Given the description of an element on the screen output the (x, y) to click on. 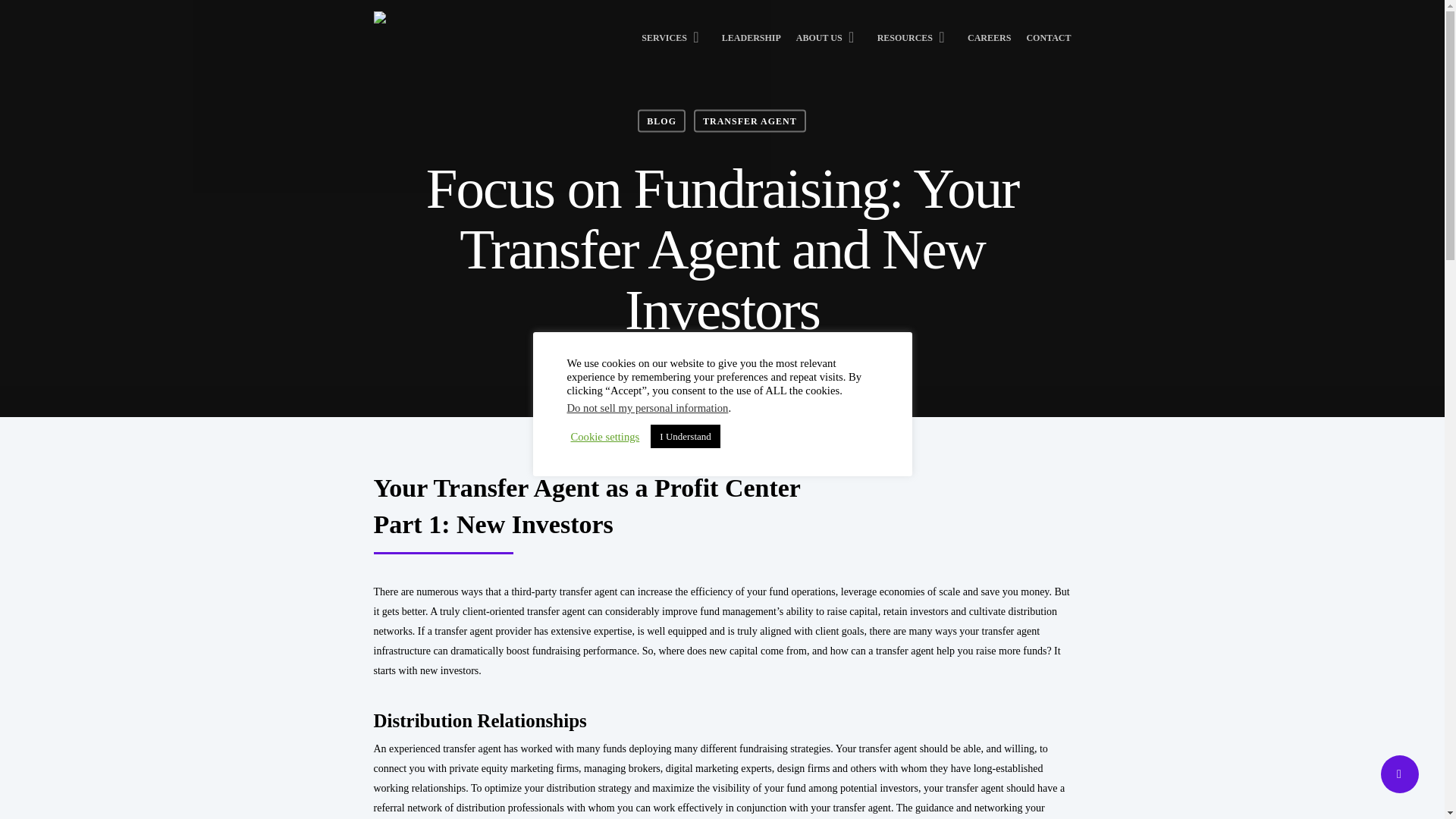
No Comments (813, 365)
ABOUT US (828, 43)
BLOG (661, 119)
David Fisher (634, 365)
LEADERSHIP (751, 43)
RESOURCES (914, 43)
SERVICES (674, 43)
TRANSFER AGENT (750, 119)
Posts by David Fisher (634, 365)
